Given the description of an element on the screen output the (x, y) to click on. 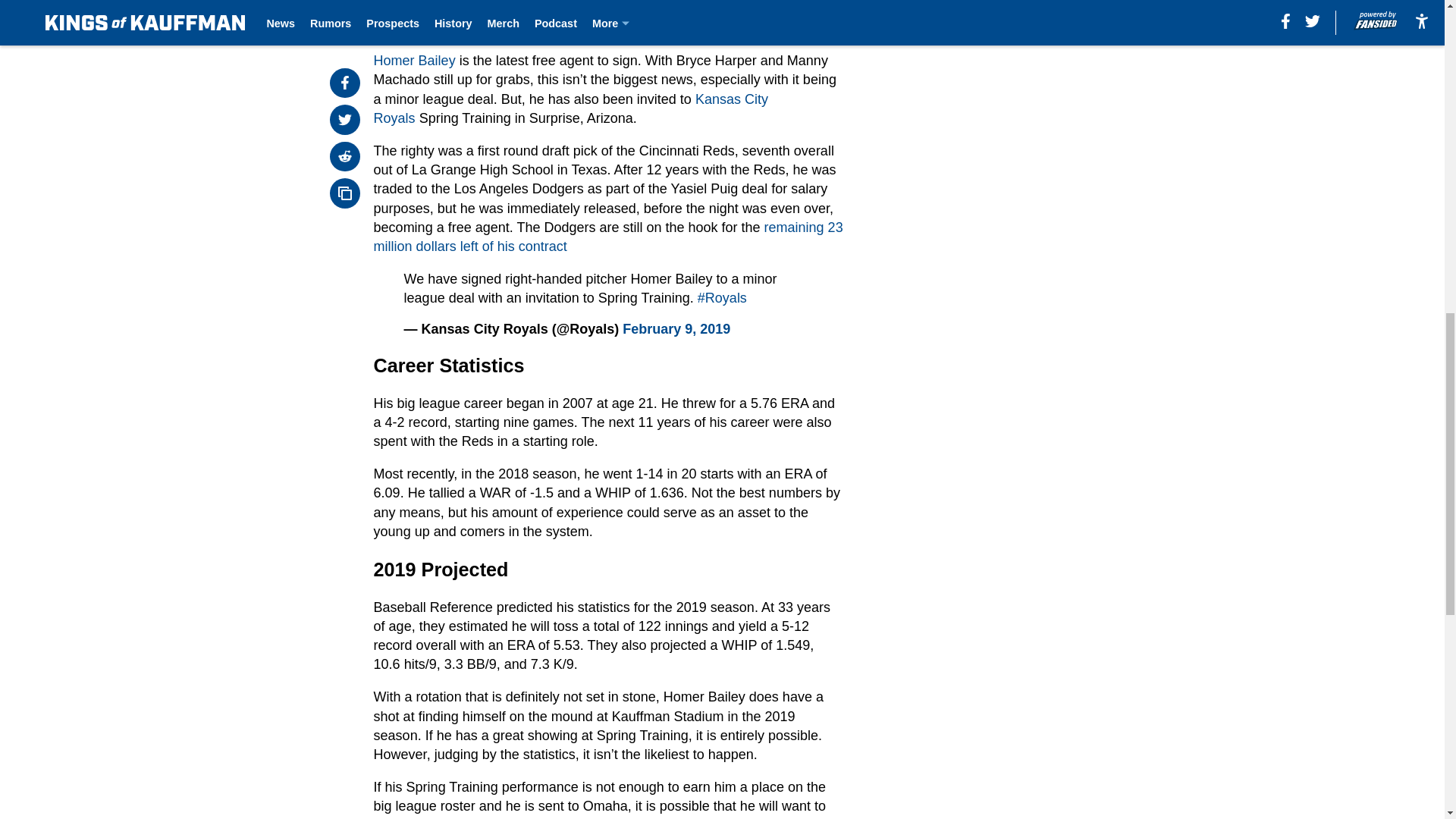
Kansas City Royals (571, 108)
remaining 23 million dollars left of his contract (608, 236)
February 9, 2019 (676, 328)
Homer Bailey (414, 60)
